Given the description of an element on the screen output the (x, y) to click on. 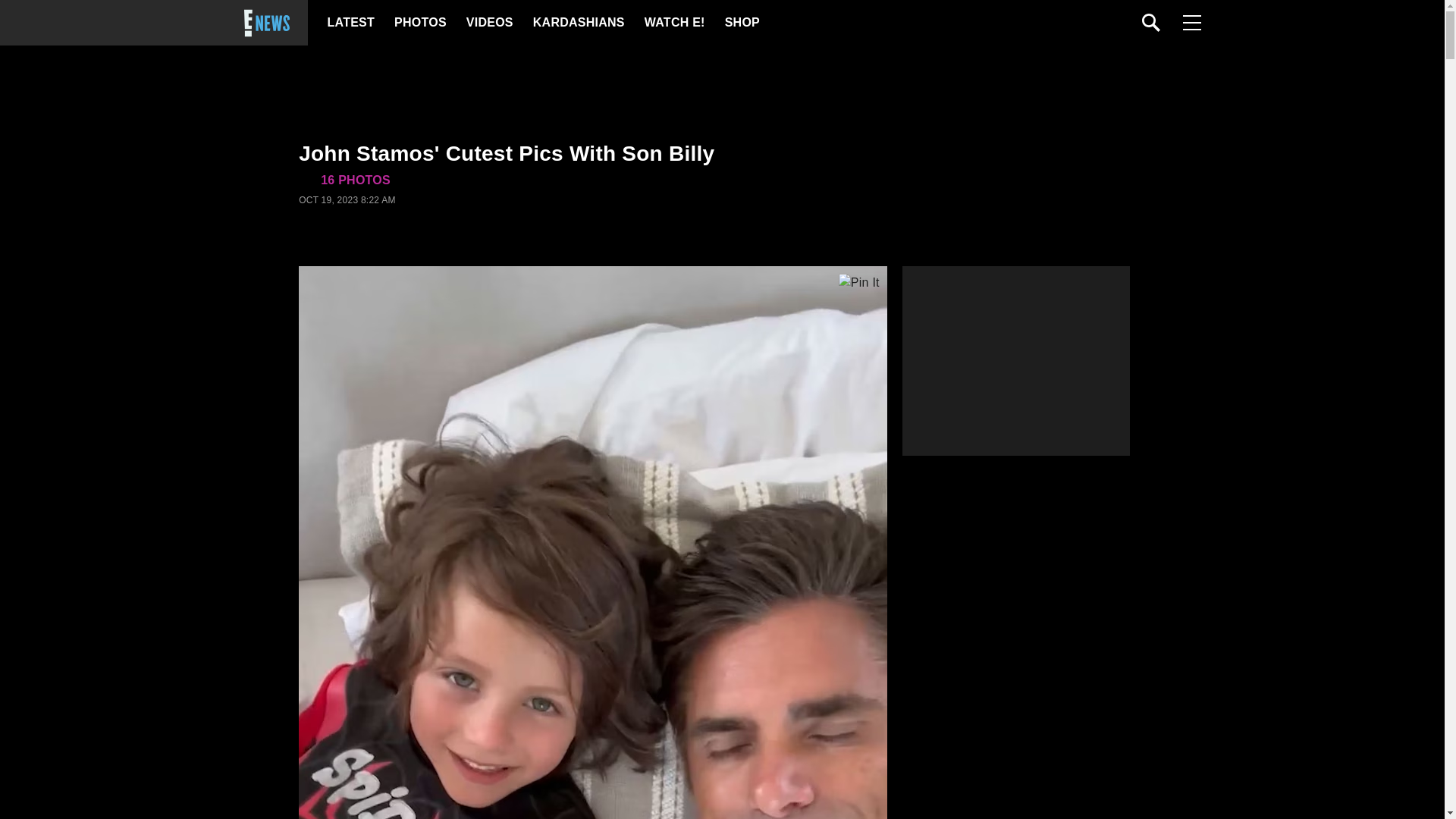
VIDEOS (488, 22)
PHOTOS (419, 22)
WATCH E! (673, 22)
LATEST (350, 22)
SHOP (741, 22)
KARDASHIANS (577, 22)
